Given the description of an element on the screen output the (x, y) to click on. 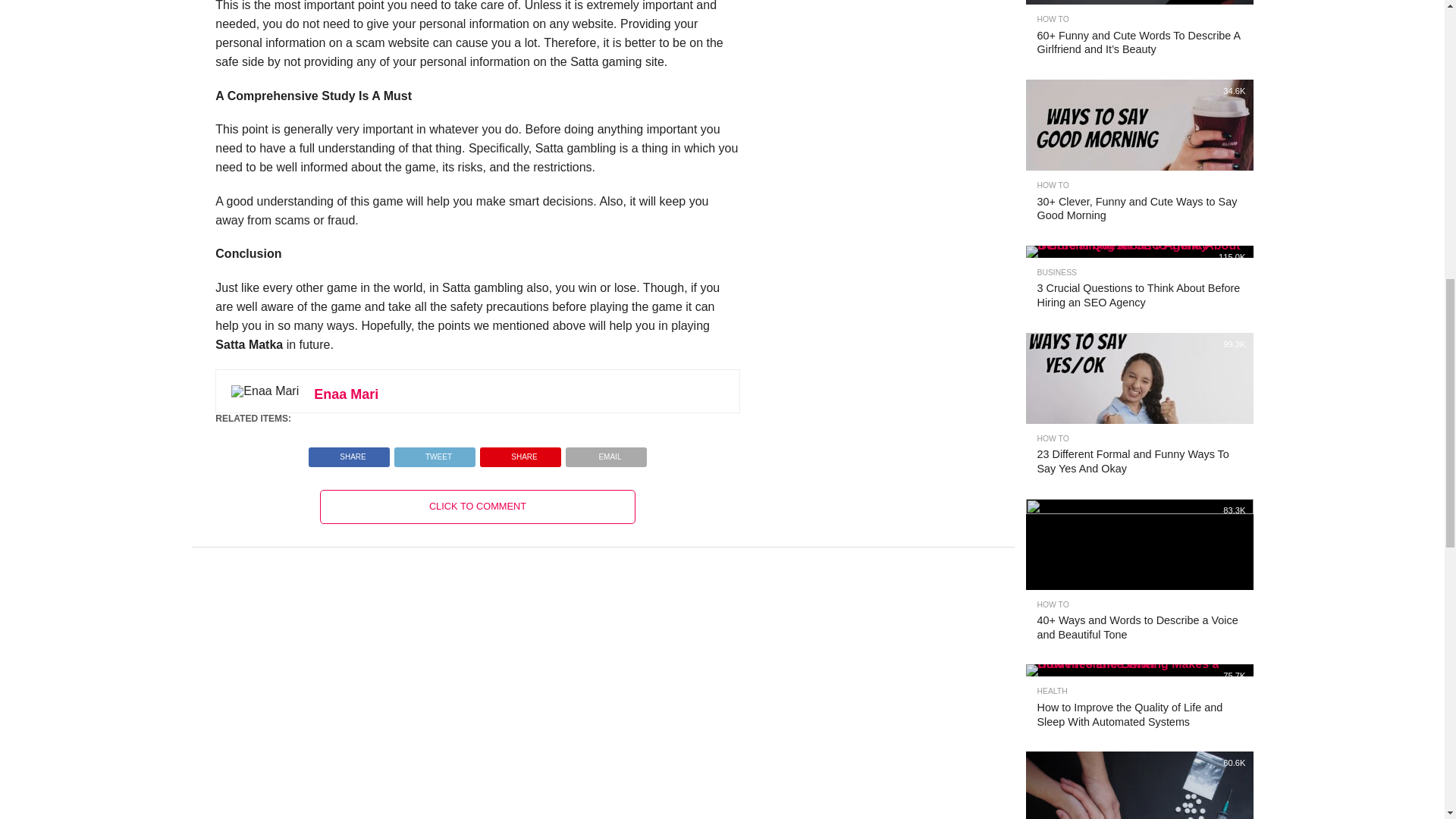
Enaa Mari (346, 394)
Pin This Post (520, 452)
Share on Facebook (349, 452)
TWEET (434, 452)
SHARE (520, 452)
SHARE (349, 452)
Tweet This Post (434, 452)
EMAIL (605, 452)
